Given the description of an element on the screen output the (x, y) to click on. 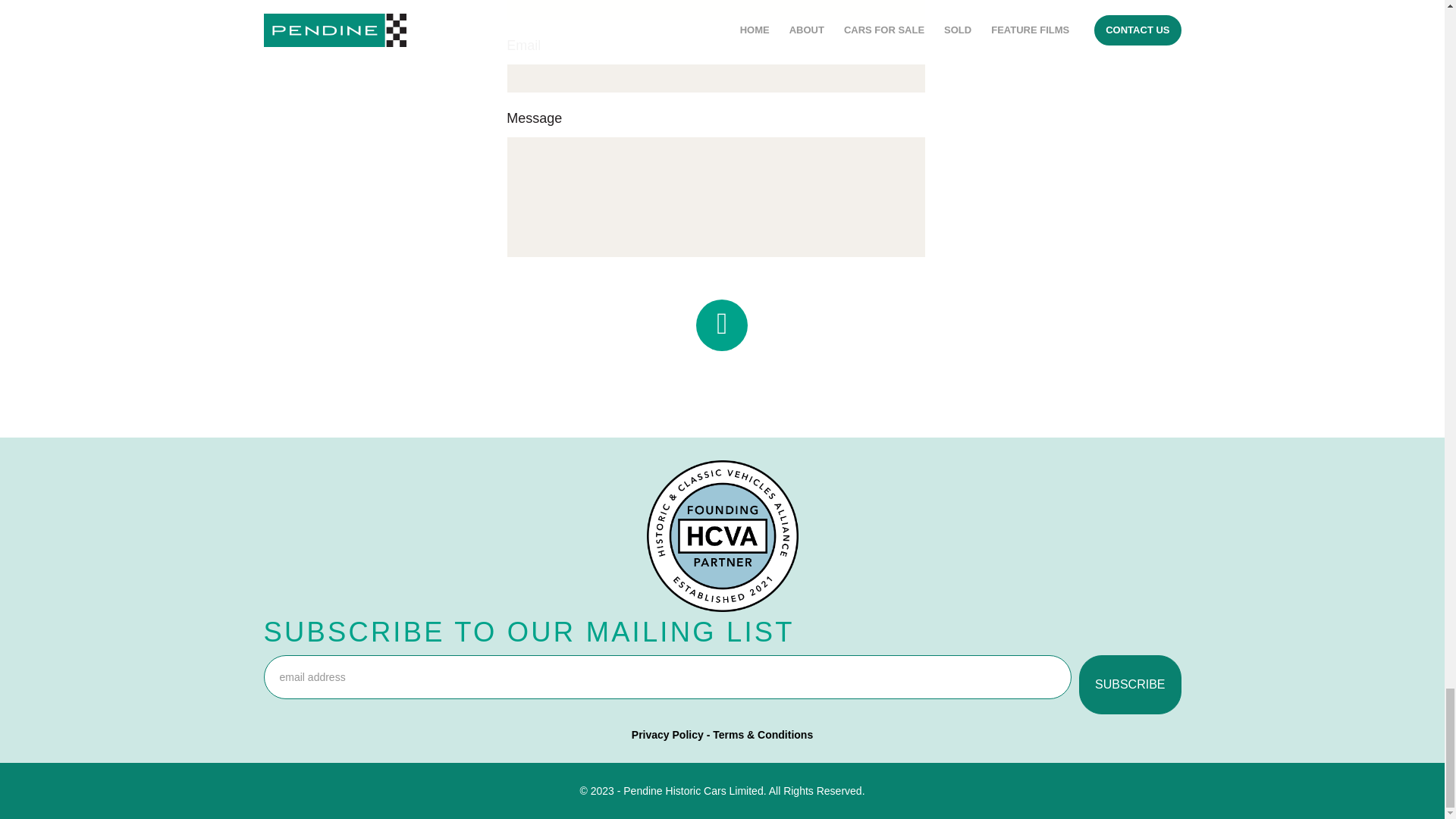
Privacy Policy (667, 734)
Subscribe (1129, 684)
Subscribe (1129, 684)
